Given the description of an element on the screen output the (x, y) to click on. 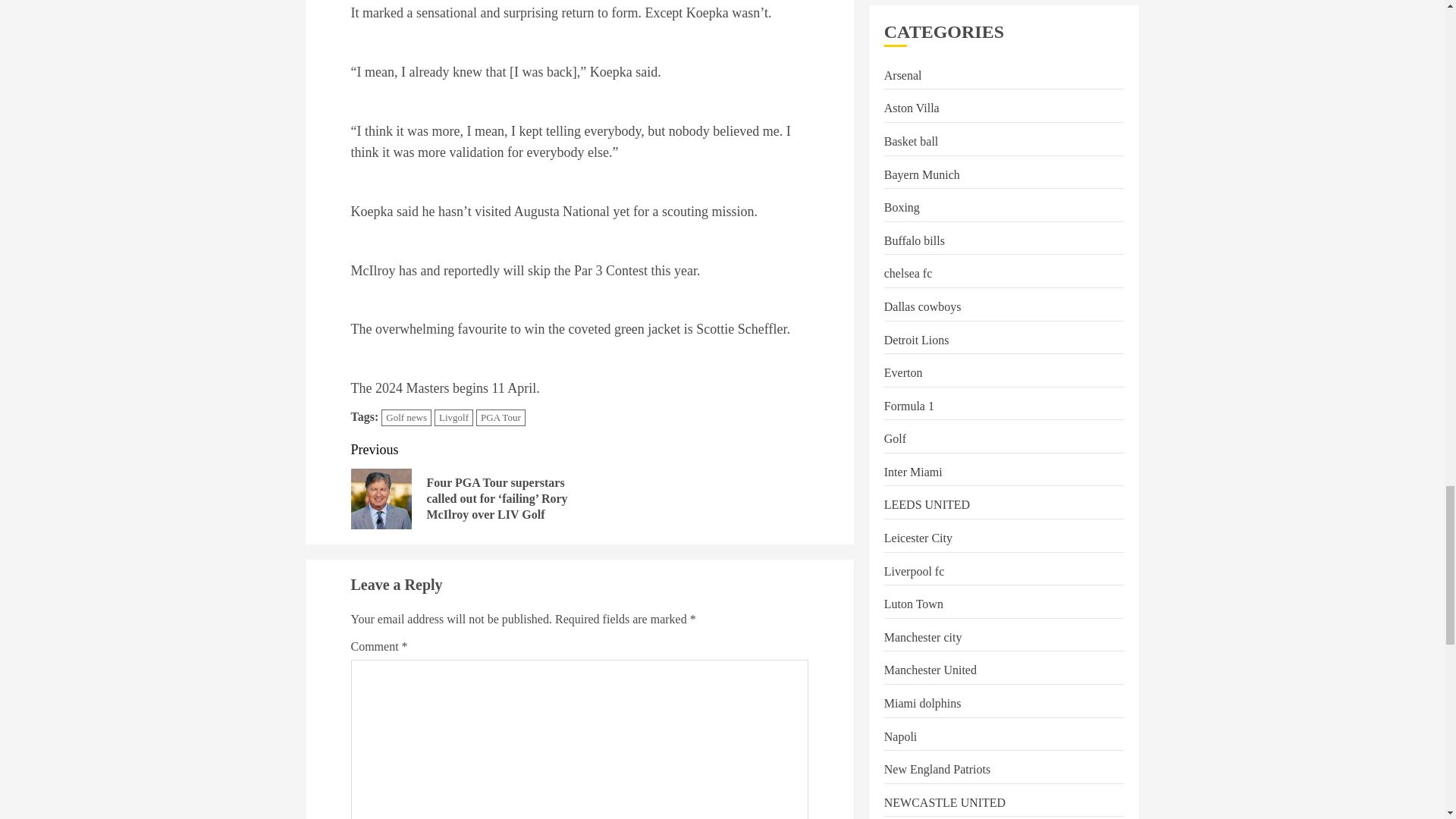
Livgolf (453, 417)
PGA Tour (500, 417)
Golf news (405, 417)
